Given the description of an element on the screen output the (x, y) to click on. 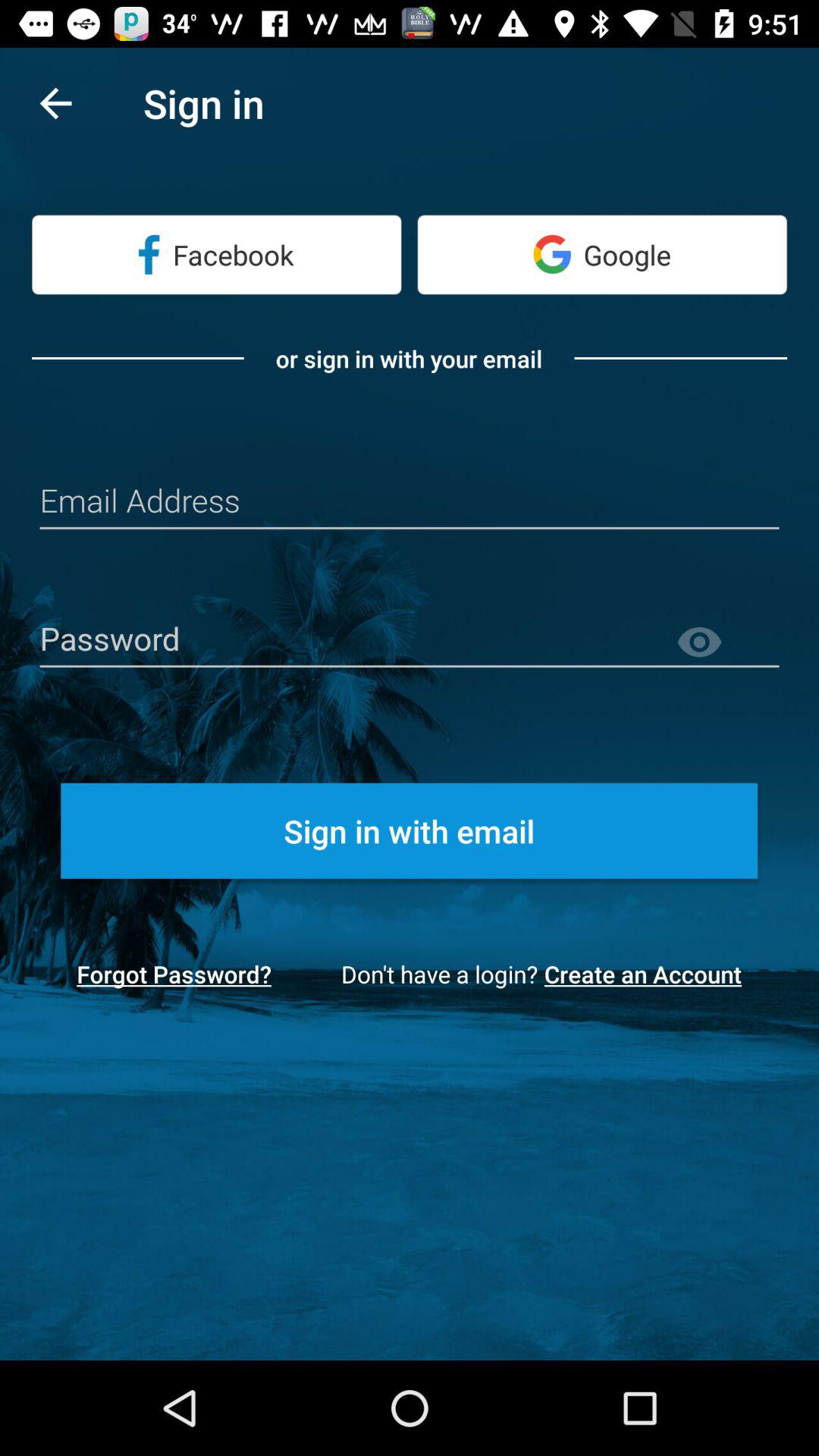
choose the icon below the sign in with (173, 974)
